Given the description of an element on the screen output the (x, y) to click on. 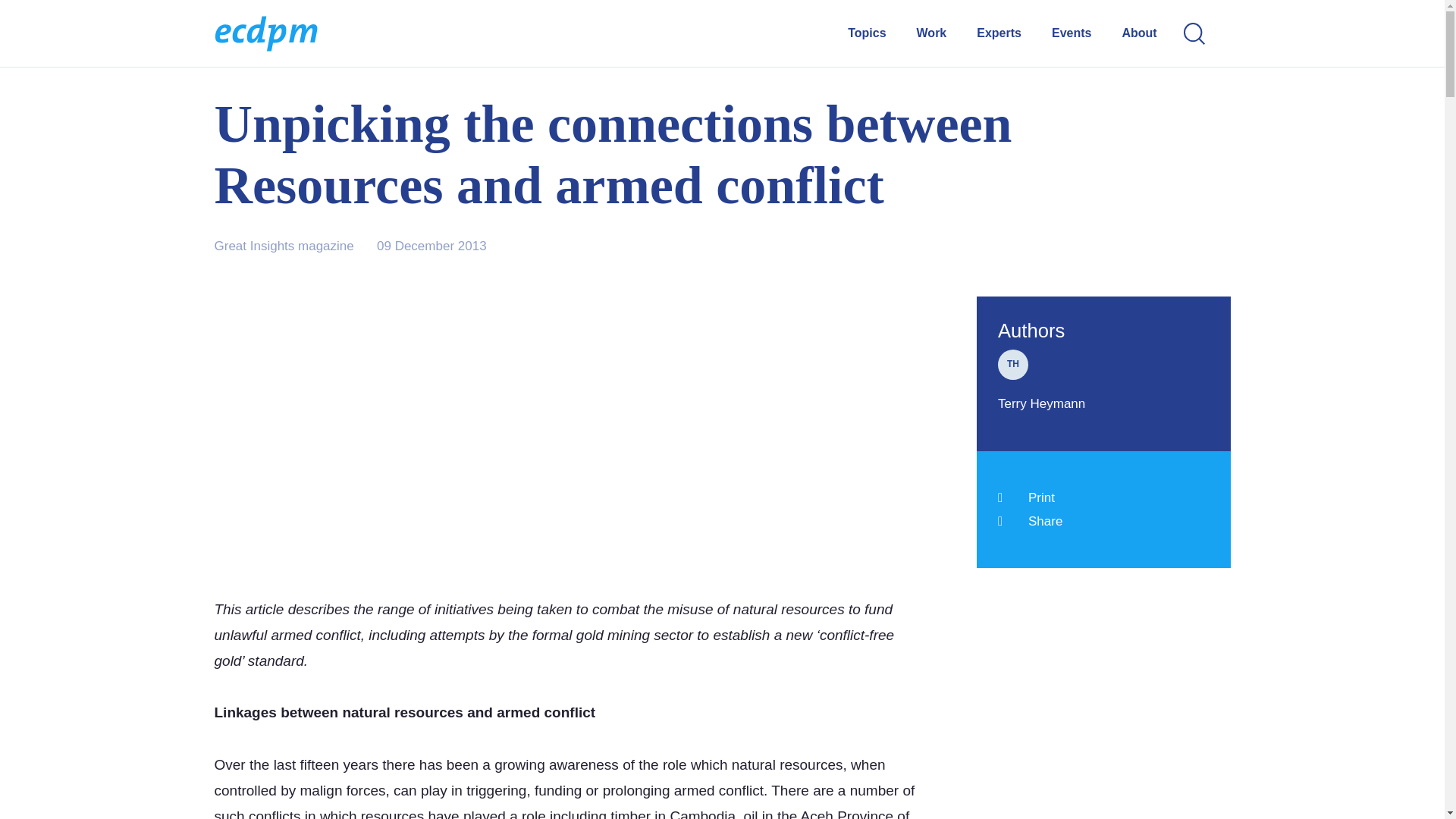
Topics (866, 32)
About (1138, 32)
Work (931, 32)
Experts (999, 32)
Events (1071, 32)
